Given the description of an element on the screen output the (x, y) to click on. 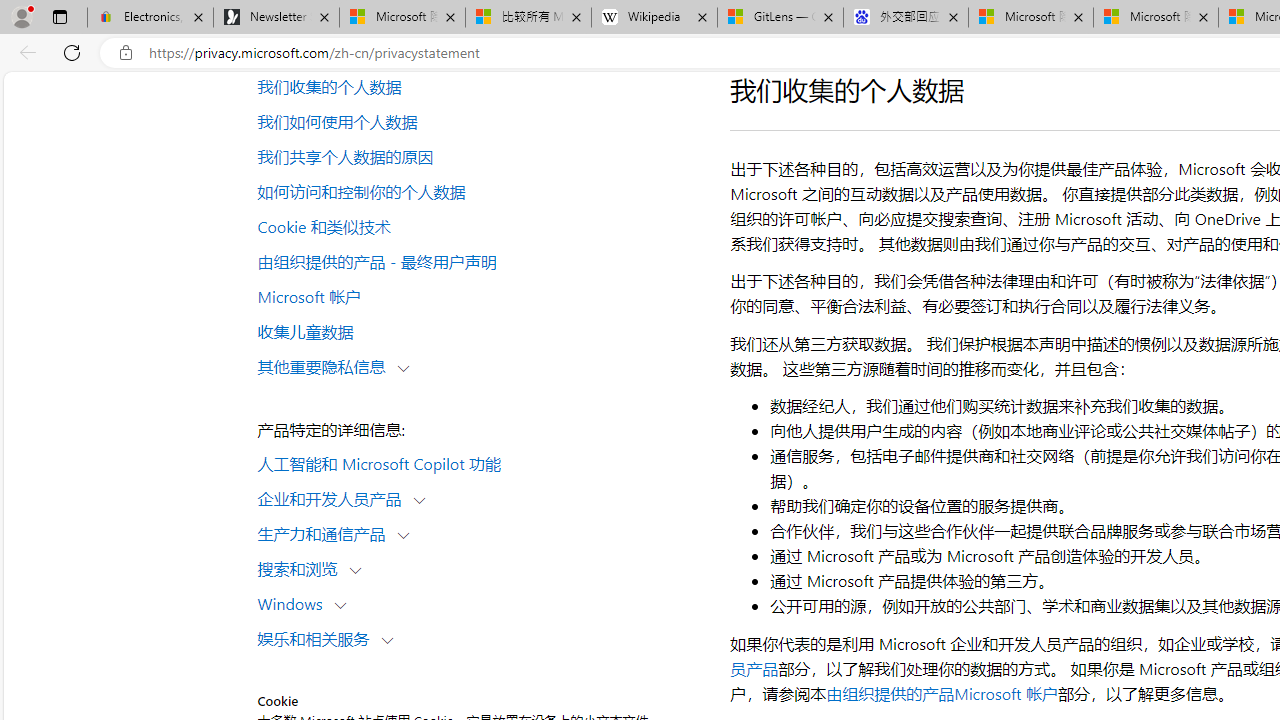
Electronics, Cars, Fashion, Collectibles & More | eBay (150, 17)
